Given the description of an element on the screen output the (x, y) to click on. 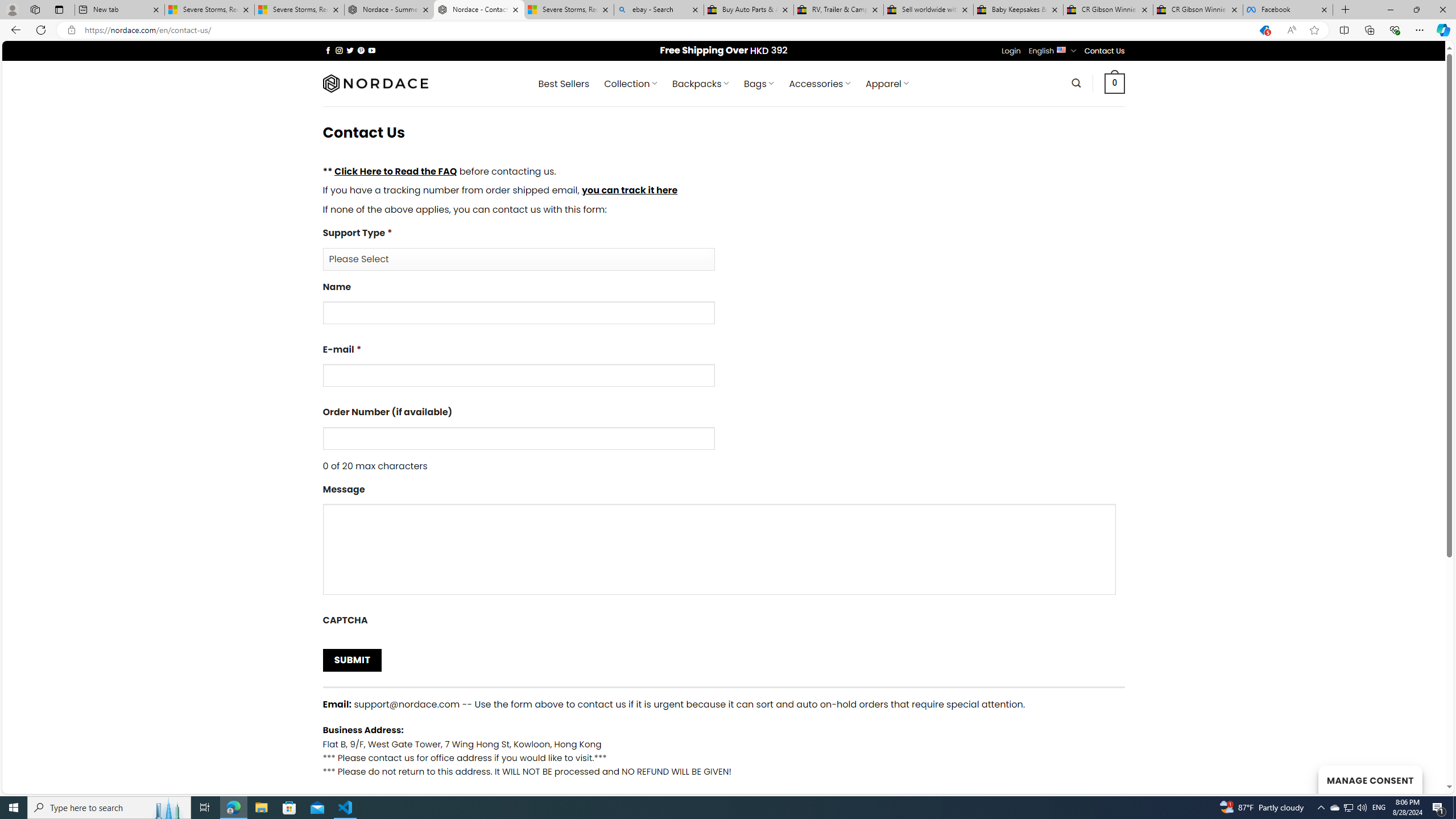
Facebook (1287, 9)
Nordace - Contact Us (478, 9)
Name (517, 312)
Follow on YouTube (371, 49)
Follow on Twitter (349, 49)
you can track it here (629, 190)
Follow on Facebook (327, 49)
